Given the description of an element on the screen output the (x, y) to click on. 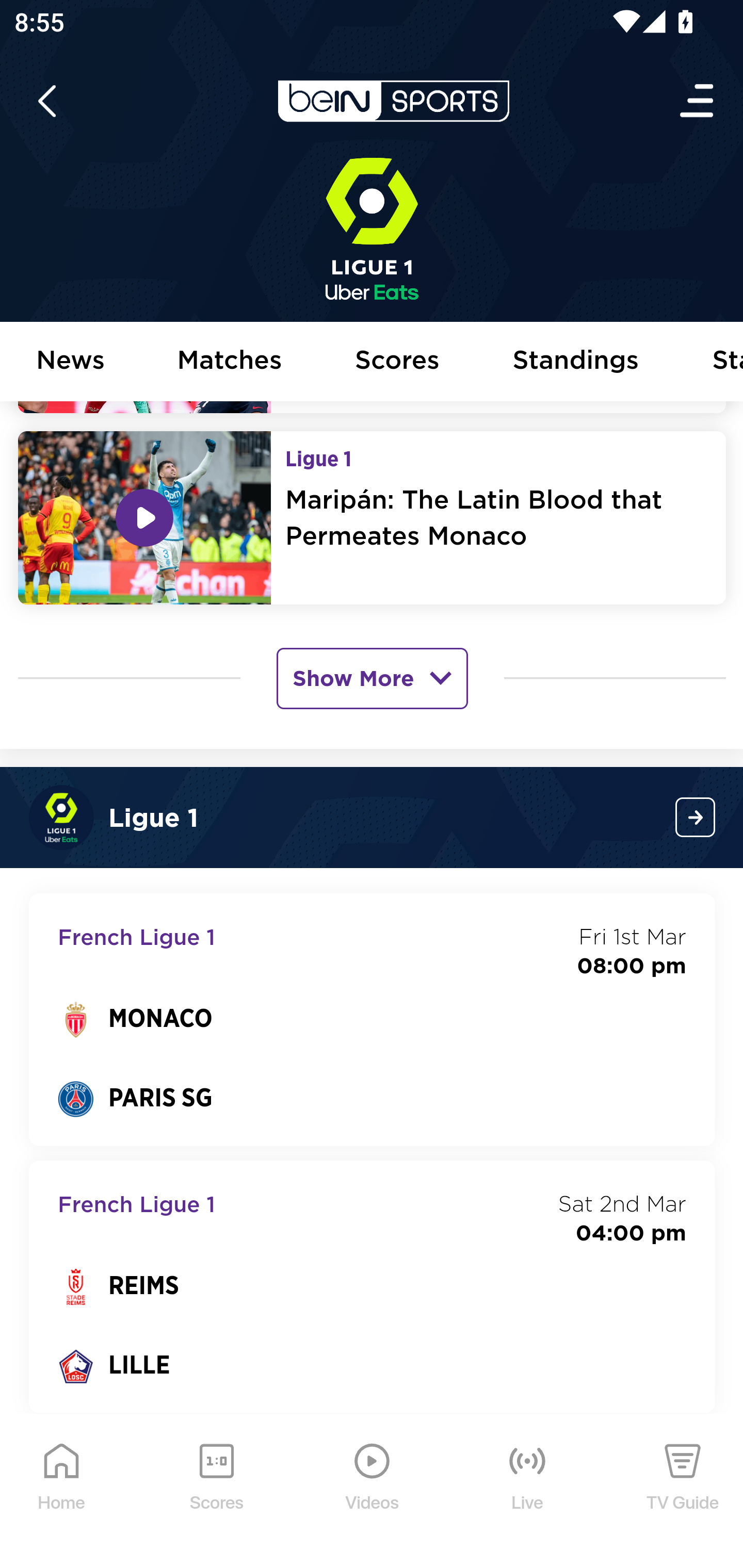
en-us?platform=mobile_android bein logo white (392, 101)
icon back (46, 101)
Open Menu Icon (697, 101)
News (70, 361)
Matches (229, 361)
Scores (397, 361)
Standings (575, 361)
Show More (371, 677)
ligue-1?platform=mobile_android (695, 816)
Home Home Icon Home (61, 1491)
Scores Scores Icon Scores (216, 1491)
Videos Videos Icon Videos (372, 1491)
TV Guide TV Guide Icon TV Guide (682, 1491)
